Given the description of an element on the screen output the (x, y) to click on. 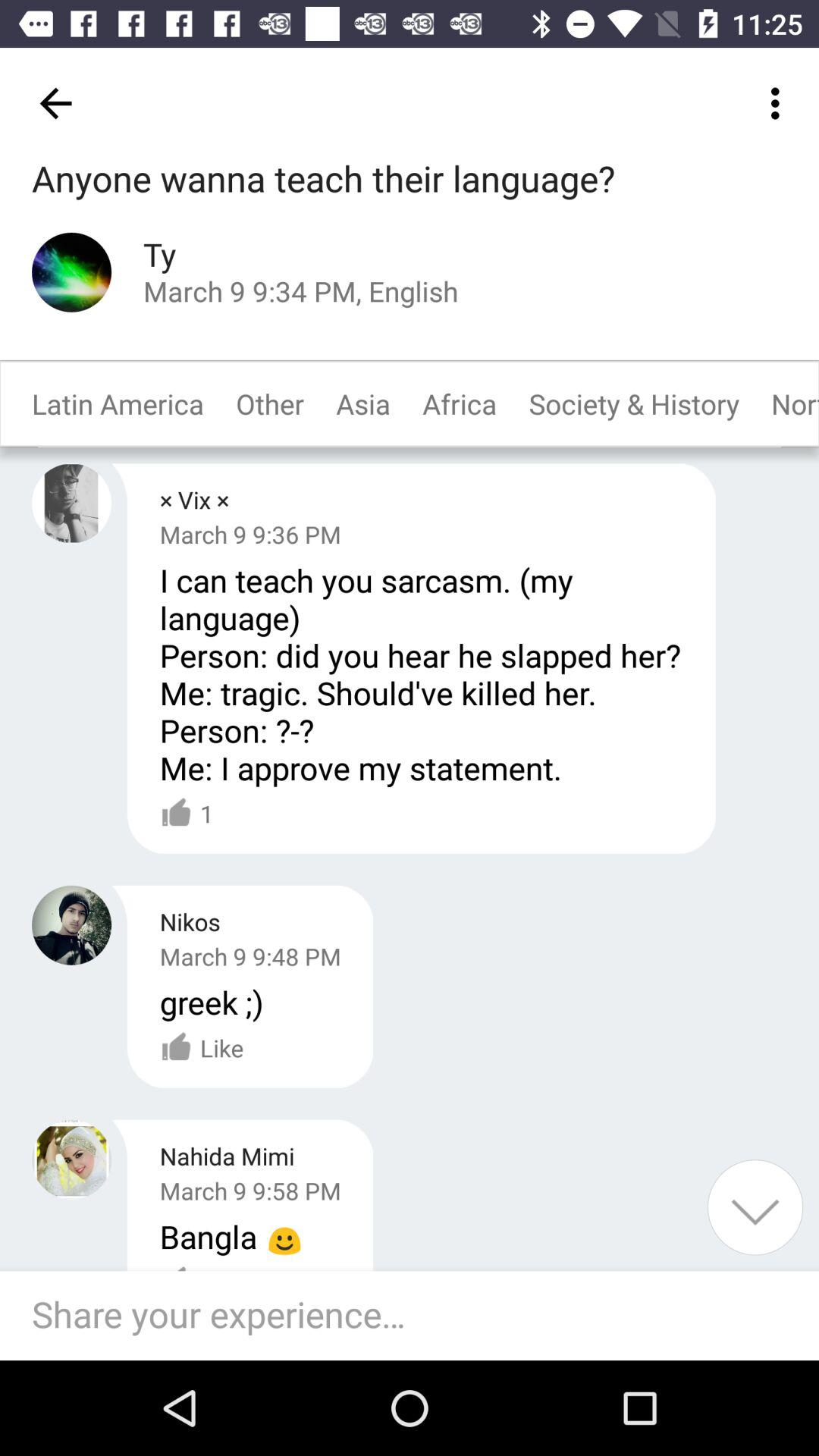
see profile (71, 272)
